Given the description of an element on the screen output the (x, y) to click on. 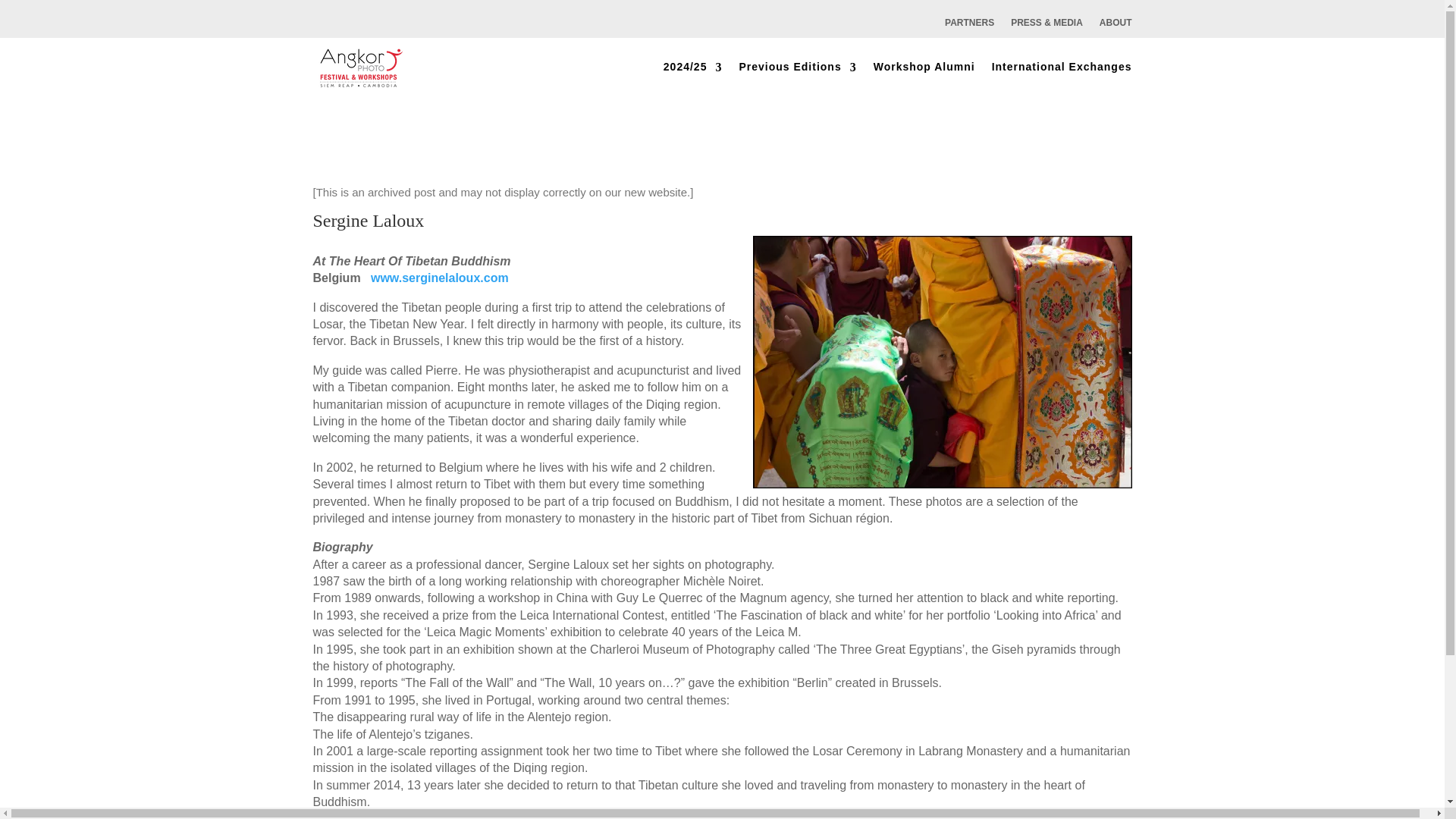
Previous Editions (797, 66)
ABOUT (1115, 33)
ABOUT US (1115, 33)
PARTNERS (969, 33)
